Given the description of an element on the screen output the (x, y) to click on. 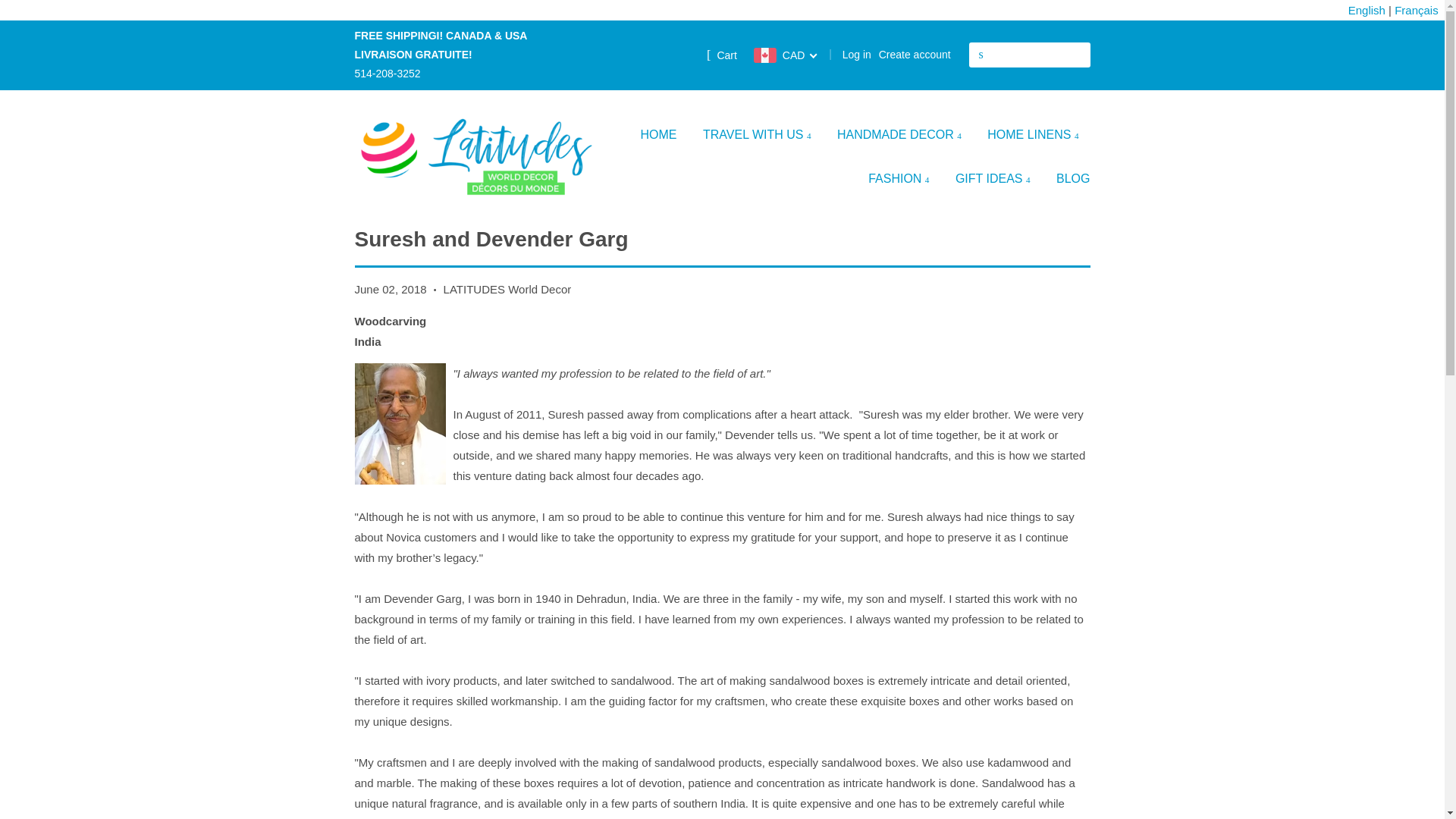
English (1367, 10)
Create account (914, 54)
Cart (721, 55)
Search (980, 54)
Log in (856, 54)
